Given the description of an element on the screen output the (x, y) to click on. 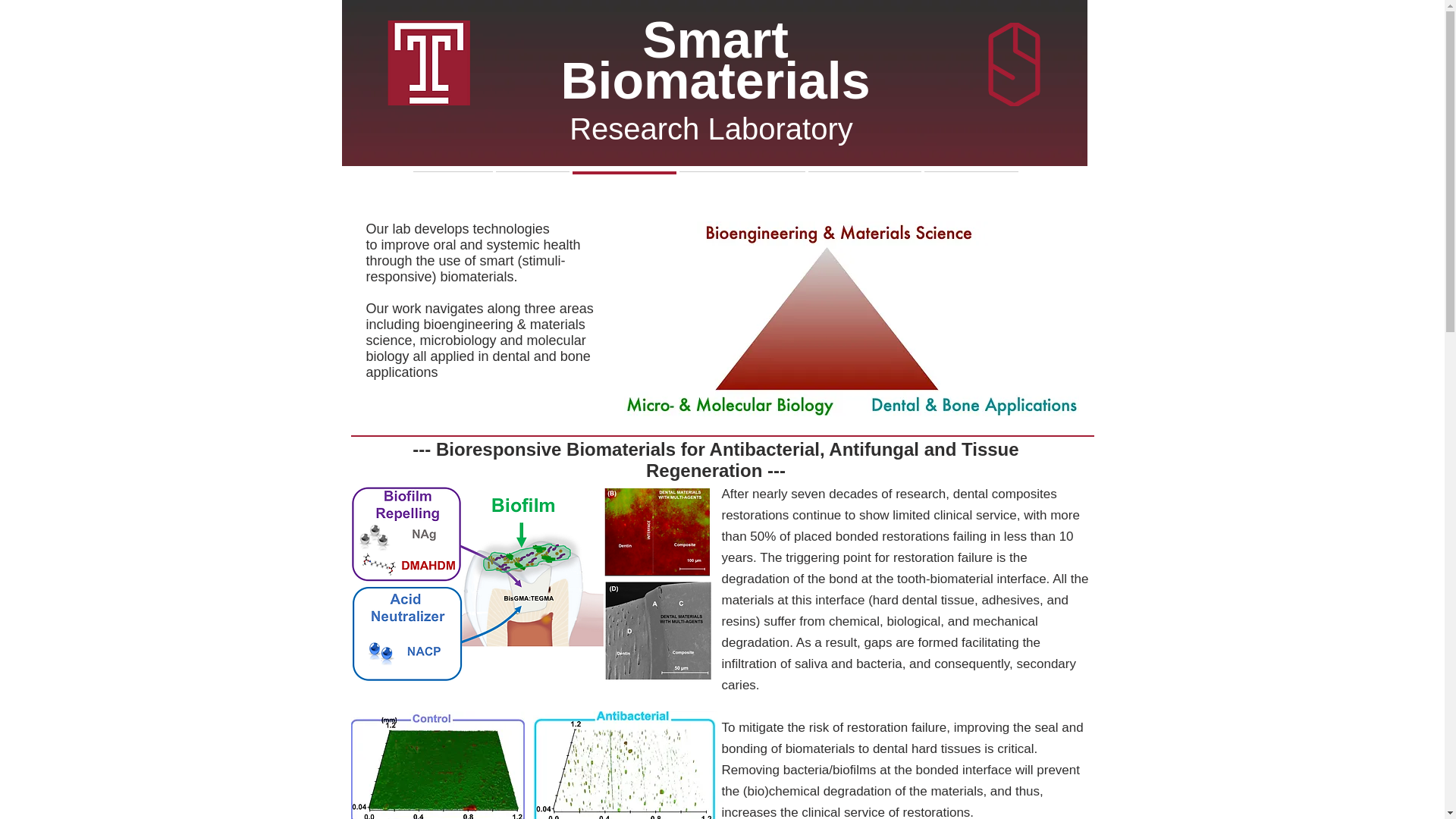
Research Laboratory  (715, 128)
Publications (742, 185)
Team (532, 185)
Ecosystem (864, 185)
Smart Biomaterials (714, 59)
Research (623, 185)
Contact (970, 185)
Home (451, 185)
